Given the description of an element on the screen output the (x, y) to click on. 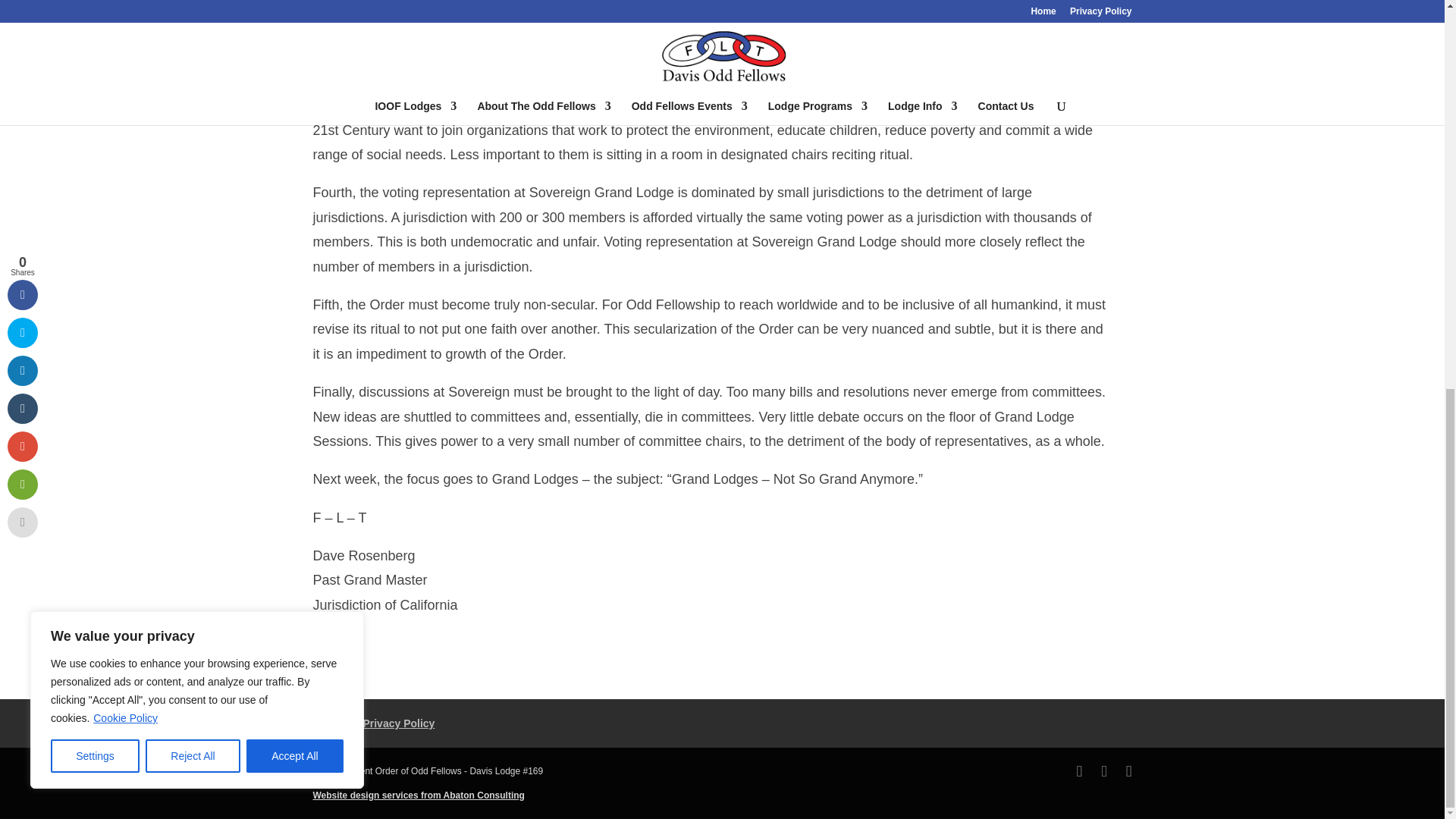
Accept All (294, 17)
Reject All (192, 17)
Settings (94, 17)
